Given the description of an element on the screen output the (x, y) to click on. 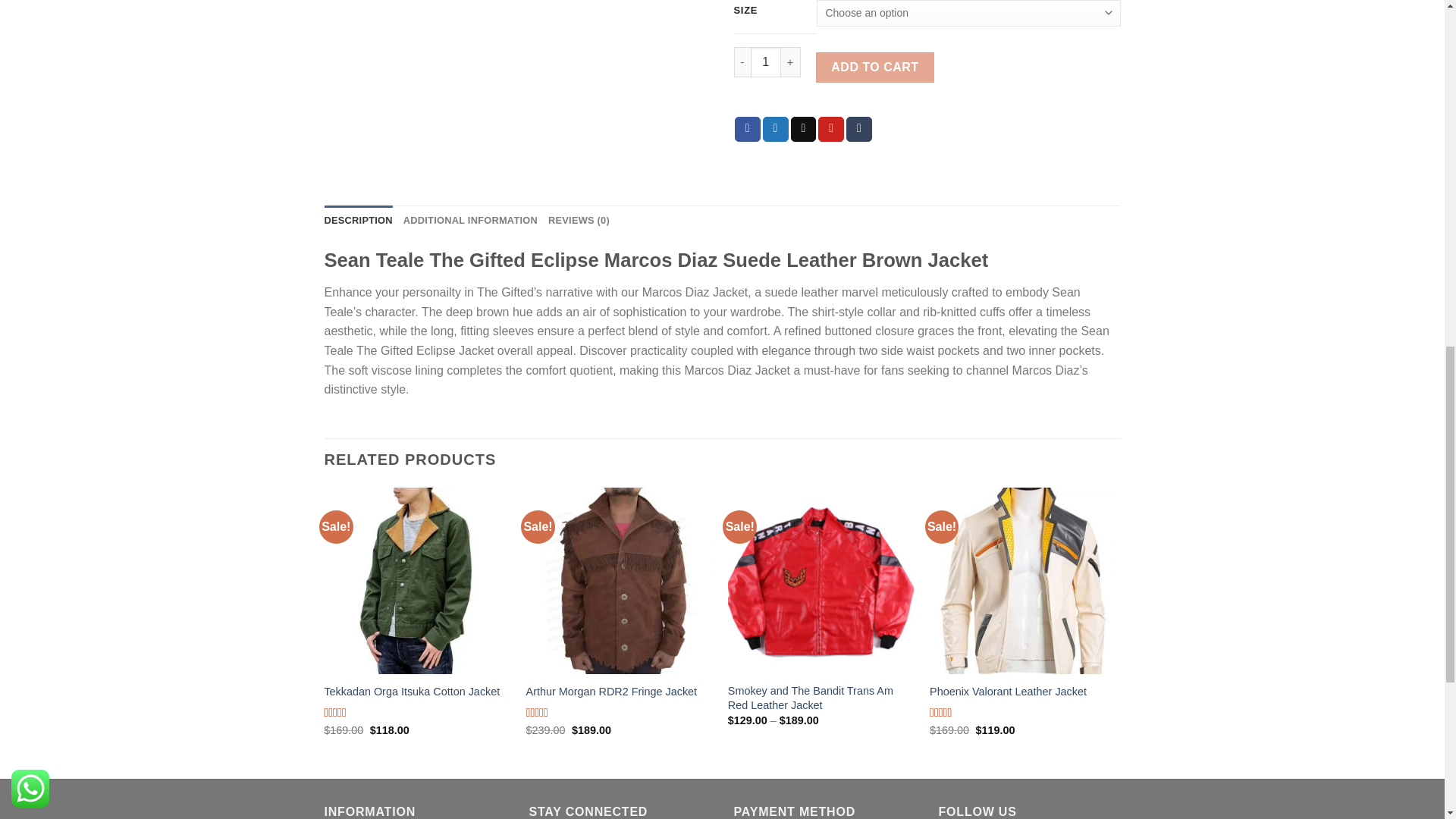
Qty (765, 61)
1 (765, 61)
